Given the description of an element on the screen output the (x, y) to click on. 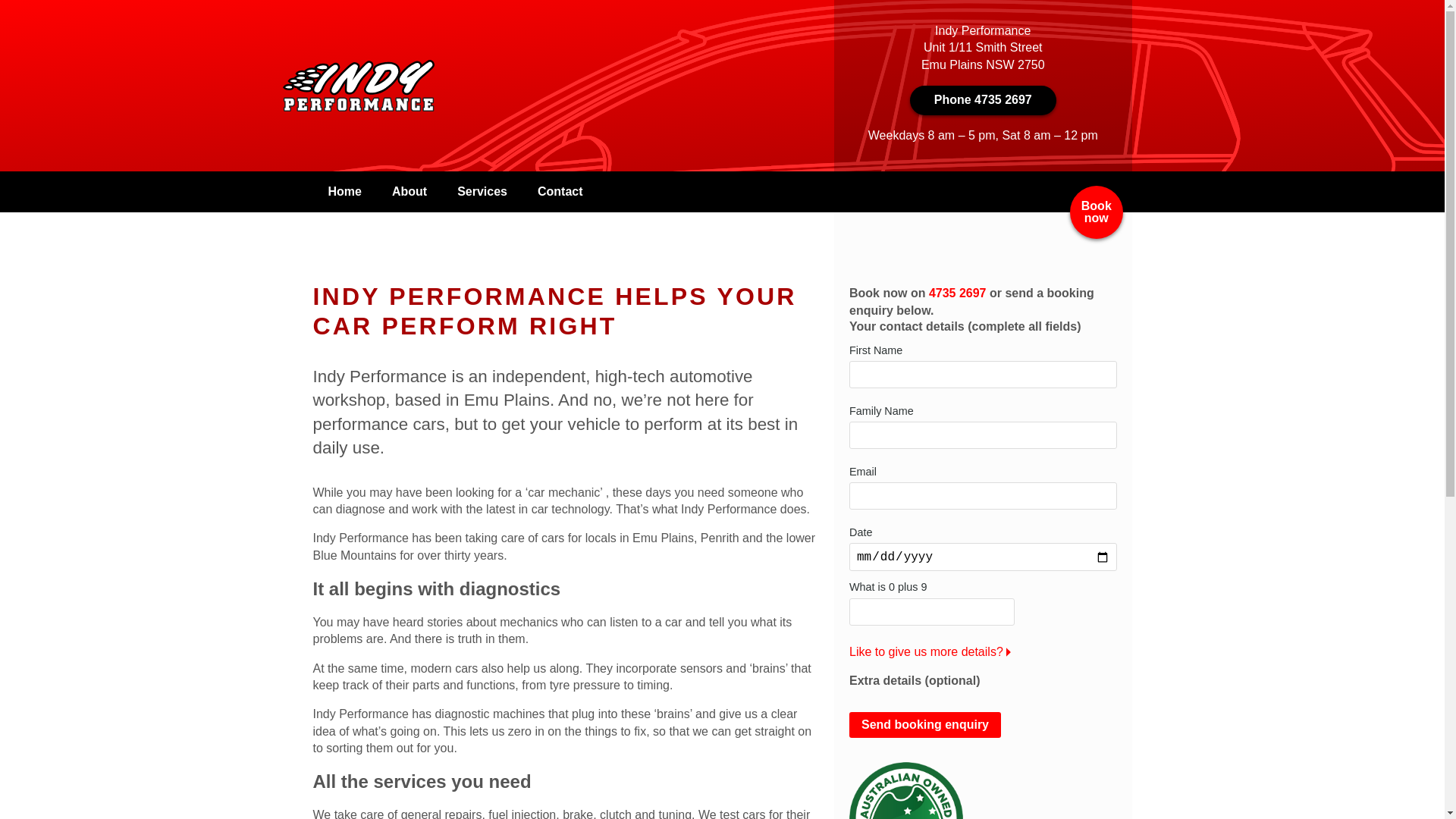
About Element type: text (409, 191)
Services Element type: text (482, 191)
Please tell us who you are in two to twenty letters Element type: hover (983, 374)
4735 2697 Element type: text (957, 292)
Send booking enquiry Element type: text (925, 724)
Phone 4735 2697 Element type: text (983, 99)
Contact Element type: text (560, 191)
Home Element type: text (344, 191)
